Given the description of an element on the screen output the (x, y) to click on. 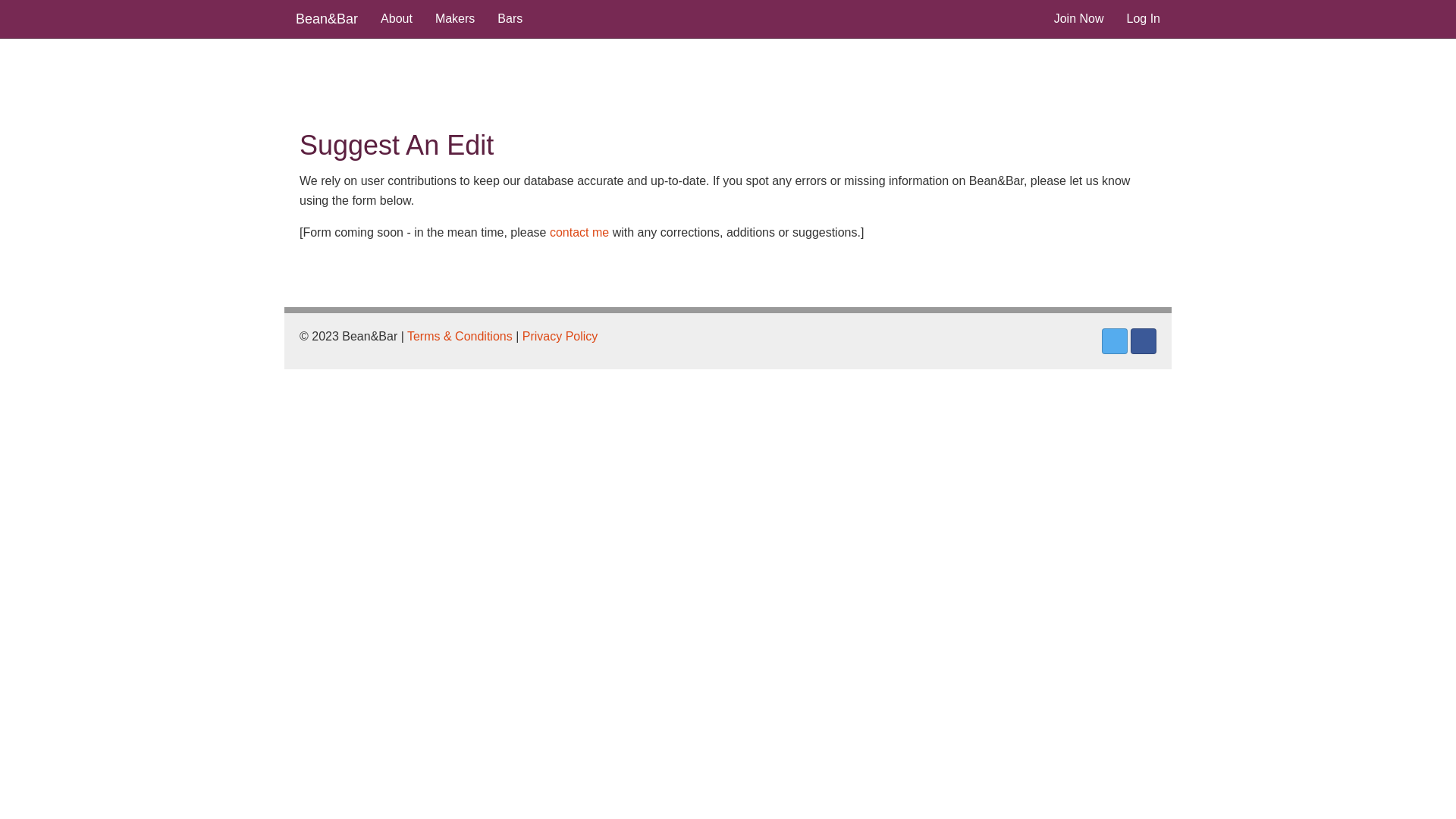
Join Now Element type: text (1078, 18)
Privacy Policy Element type: text (560, 335)
Log In Element type: text (1143, 18)
Makers Element type: text (454, 18)
Bean&Bar Element type: text (326, 18)
Bars Element type: text (509, 18)
About Element type: text (396, 18)
contact me Element type: text (578, 231)
Advertisement Element type: hover (667, 79)
Terms & Conditions Element type: text (459, 335)
